Given the description of an element on the screen output the (x, y) to click on. 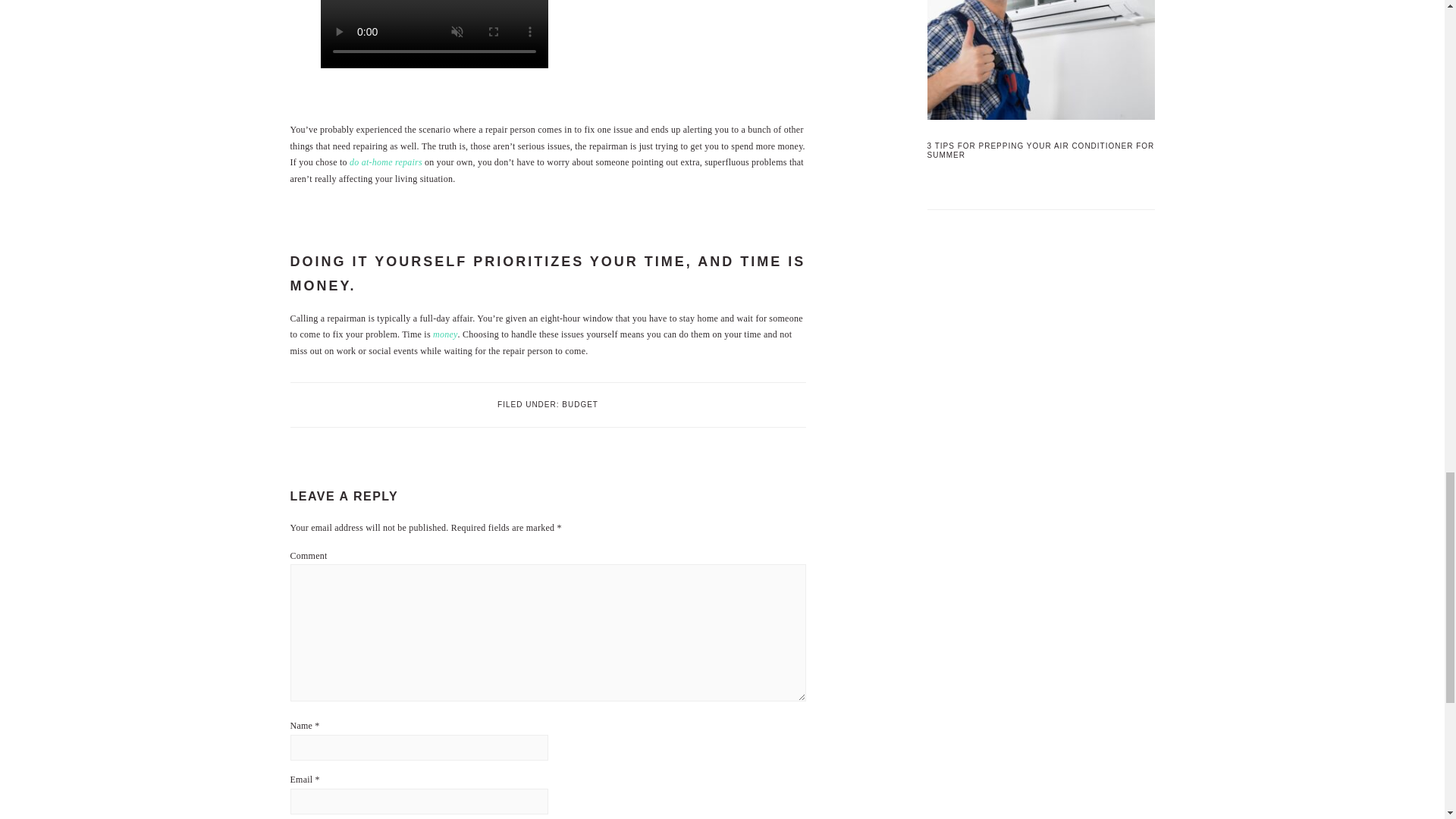
3 TIPS FOR PREPPING YOUR AIR CONDITIONER FOR SUMMER (1040, 149)
money (445, 334)
do at-home repairs (385, 162)
BUDGET (580, 404)
3 Tips For Prepping Your Air Conditioner For Summer (1040, 63)
